Given the description of an element on the screen output the (x, y) to click on. 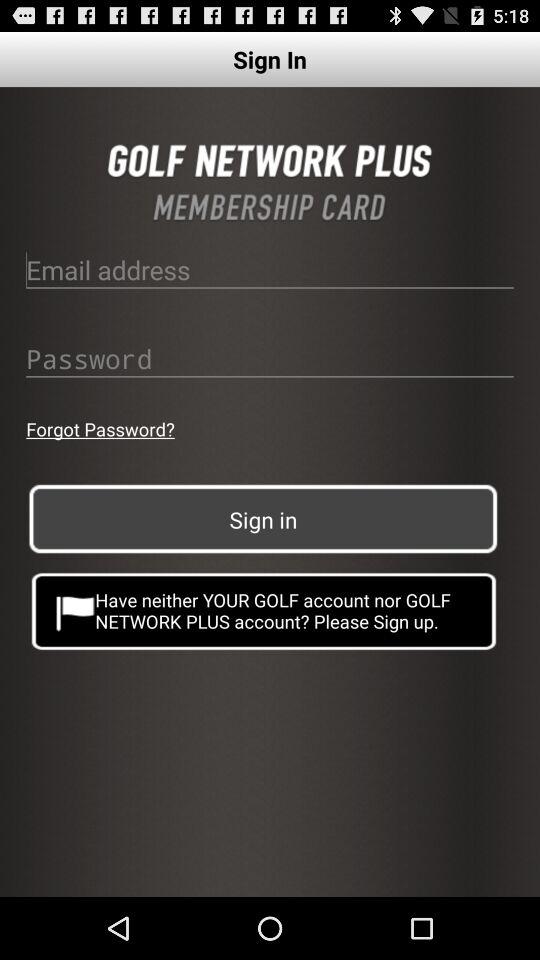
enter email address (269, 269)
